Given the description of an element on the screen output the (x, y) to click on. 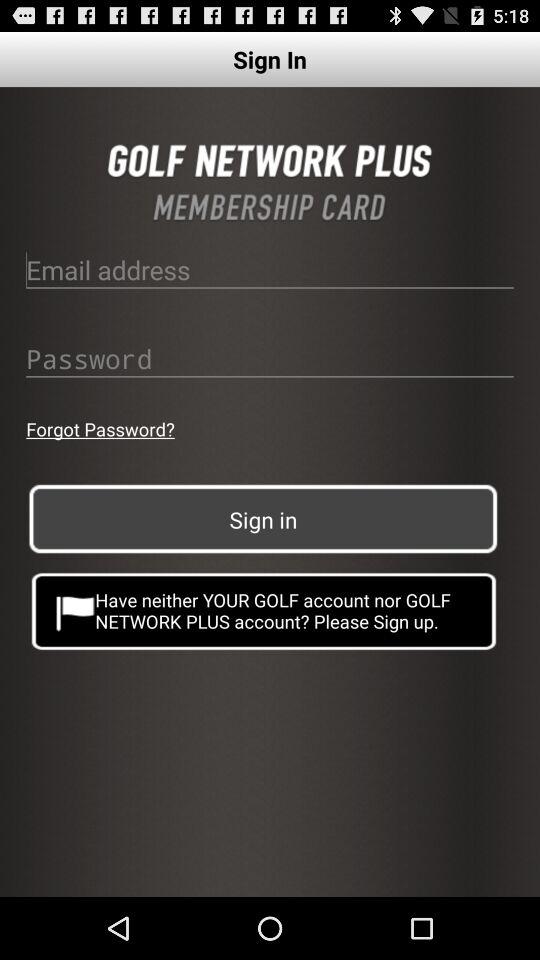
enter email address (269, 269)
